Given the description of an element on the screen output the (x, y) to click on. 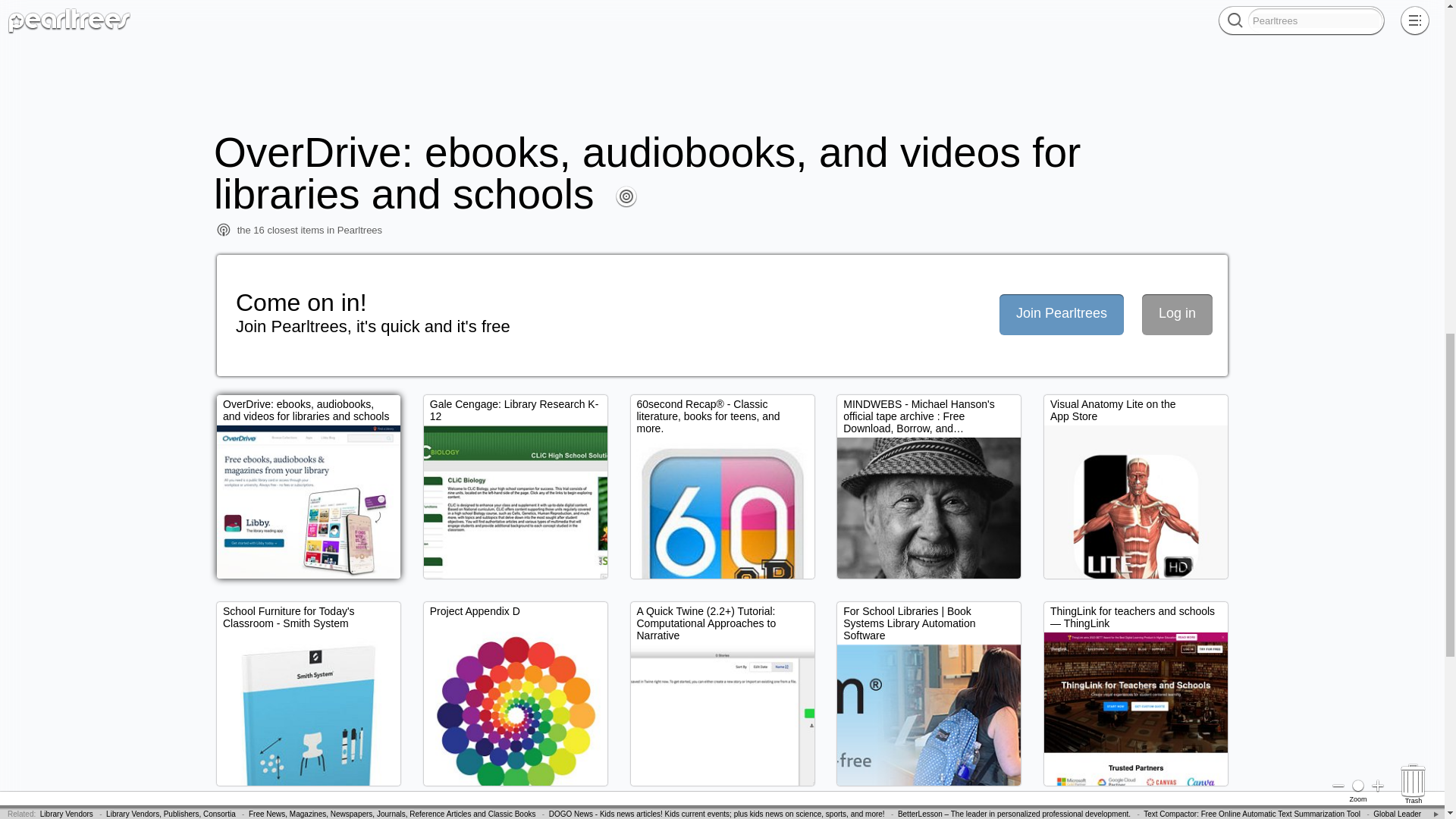
Teaching Reading (631, 8)
Text Complexity Collection (1157, 8)
200 Prompts for Argumentative Writing - The New York Times (199, 20)
5 Key Strategies For ELL Instruction (527, 8)
Booktrack Classroom (47, 20)
Homepage - Curriculet (713, 8)
500 Prompts for Narrative and Personal Writing - NYTimes.com (422, 20)
NoRedInk is on a mission to build better writers (374, 8)
